Given the description of an element on the screen output the (x, y) to click on. 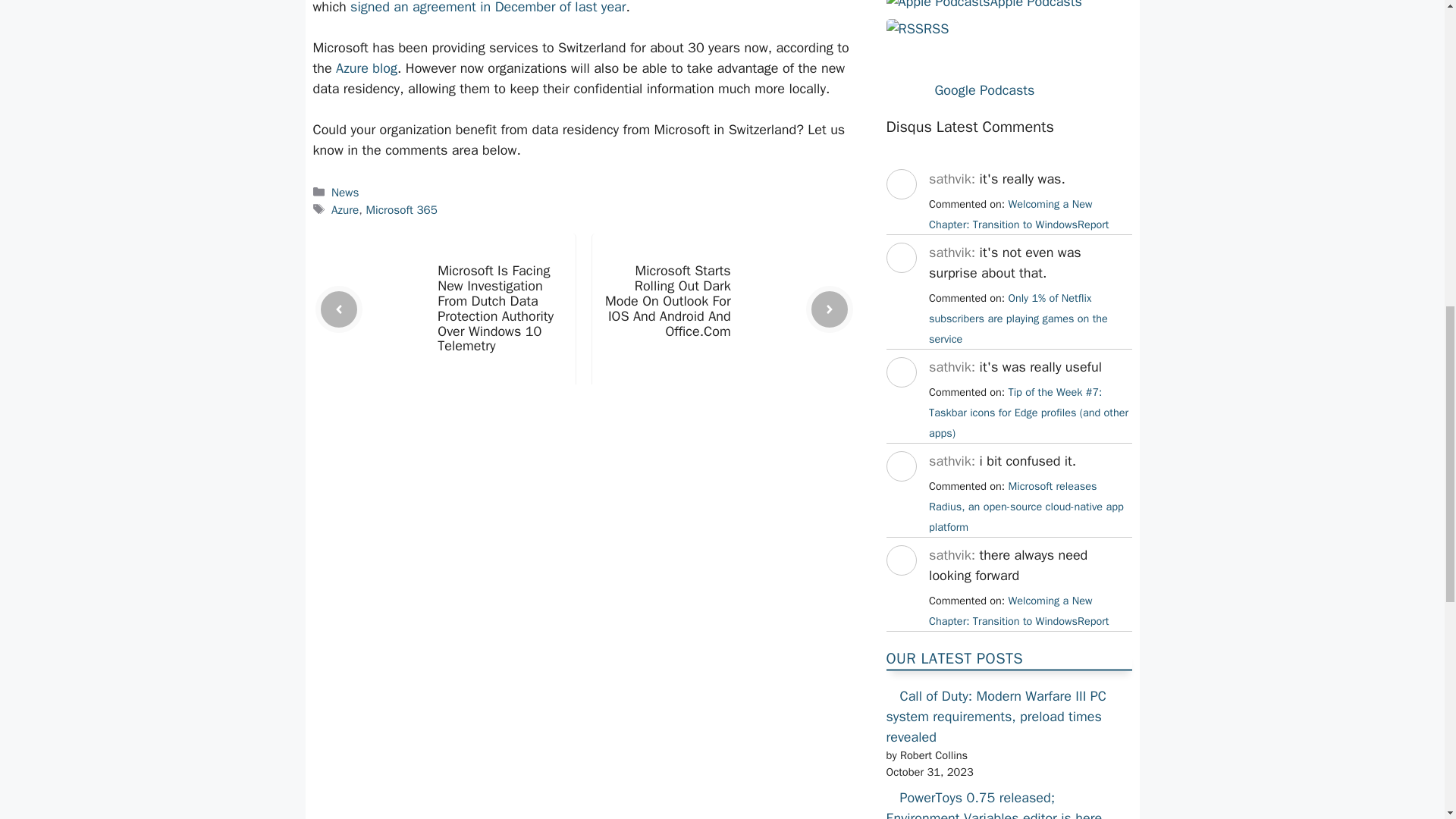
July 8, 2024 (1028, 411)
July 24, 2024 (1018, 213)
sathvik (900, 212)
sathvik (900, 494)
sathvik (900, 401)
sathvik (900, 588)
sathvik (900, 286)
June 15, 2024 (1026, 506)
July 11, 2024 (1018, 318)
May 20, 2024 (1018, 610)
